Given the description of an element on the screen output the (x, y) to click on. 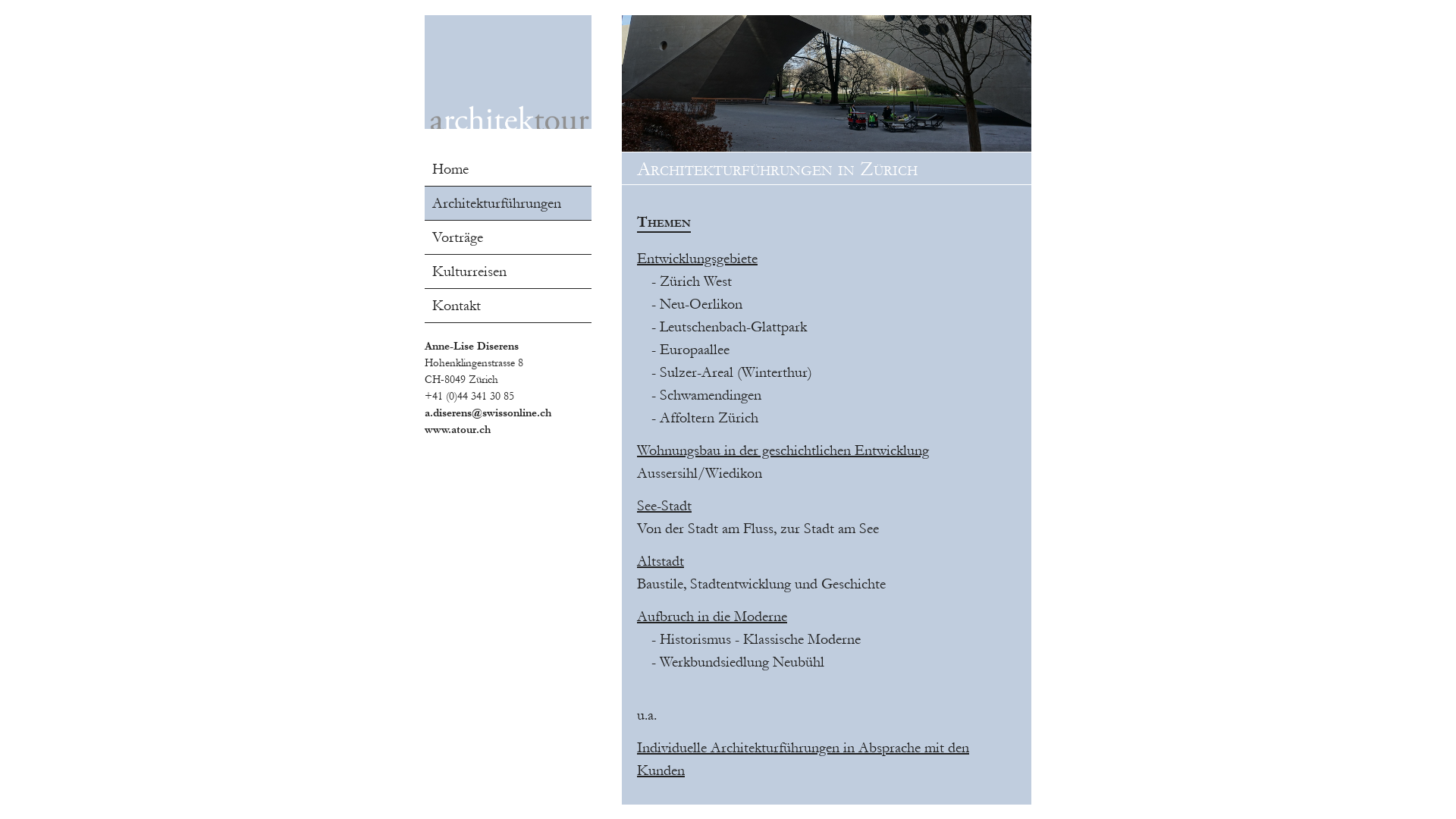
Kulturreisen Element type: text (507, 271)
Kontakt Element type: text (507, 305)
architektour Element type: hover (507, 71)
a.diserens@swissonline.ch Element type: text (487, 412)
www.atour.ch Element type: text (457, 429)
Home Element type: text (507, 168)
